Given the description of an element on the screen output the (x, y) to click on. 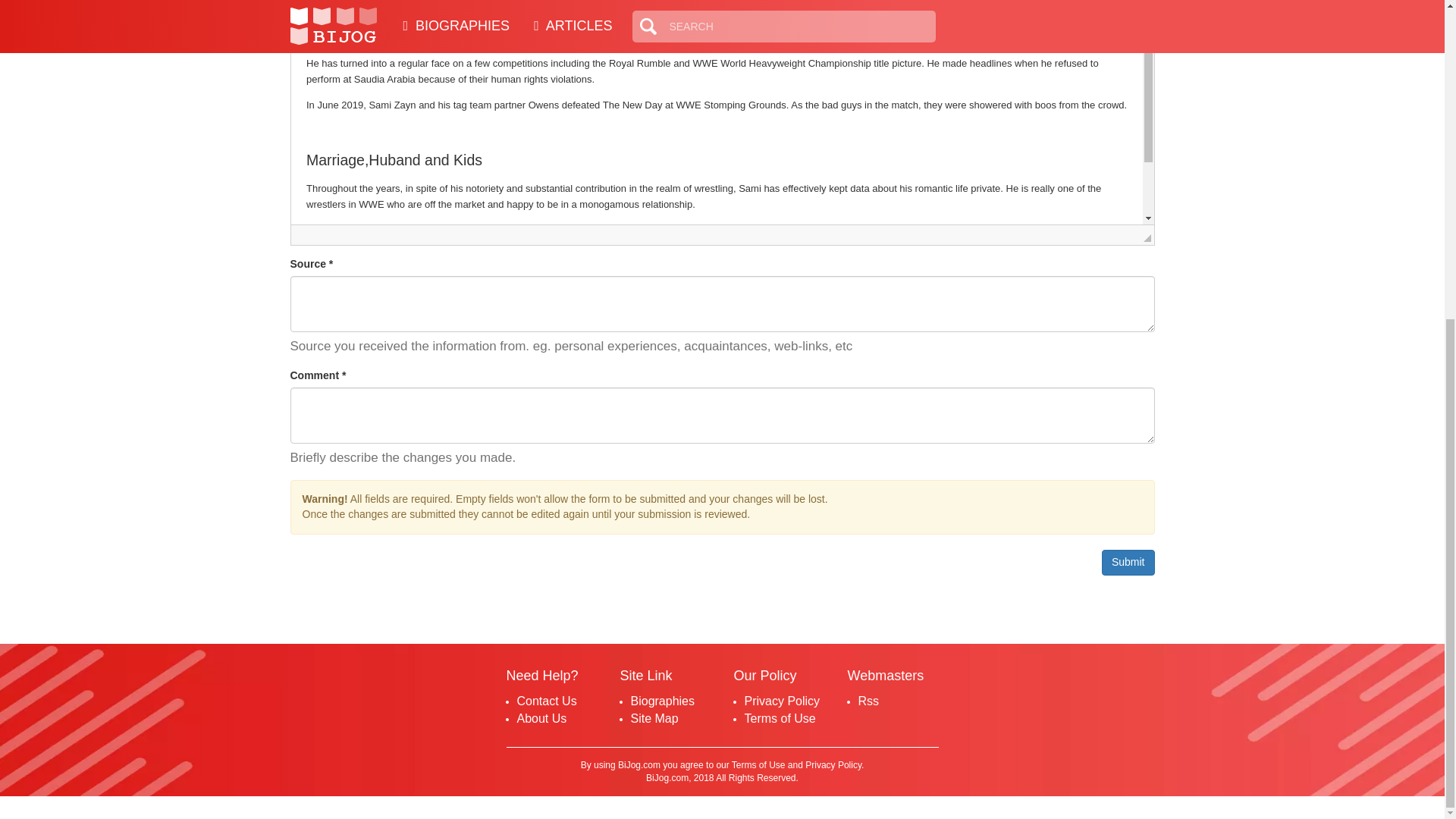
Biographies (662, 700)
Site Map (654, 717)
Submit (1128, 562)
Terms of Use (779, 717)
Privacy Policy (782, 700)
About Us (541, 717)
Contact Us (546, 700)
